Given the description of an element on the screen output the (x, y) to click on. 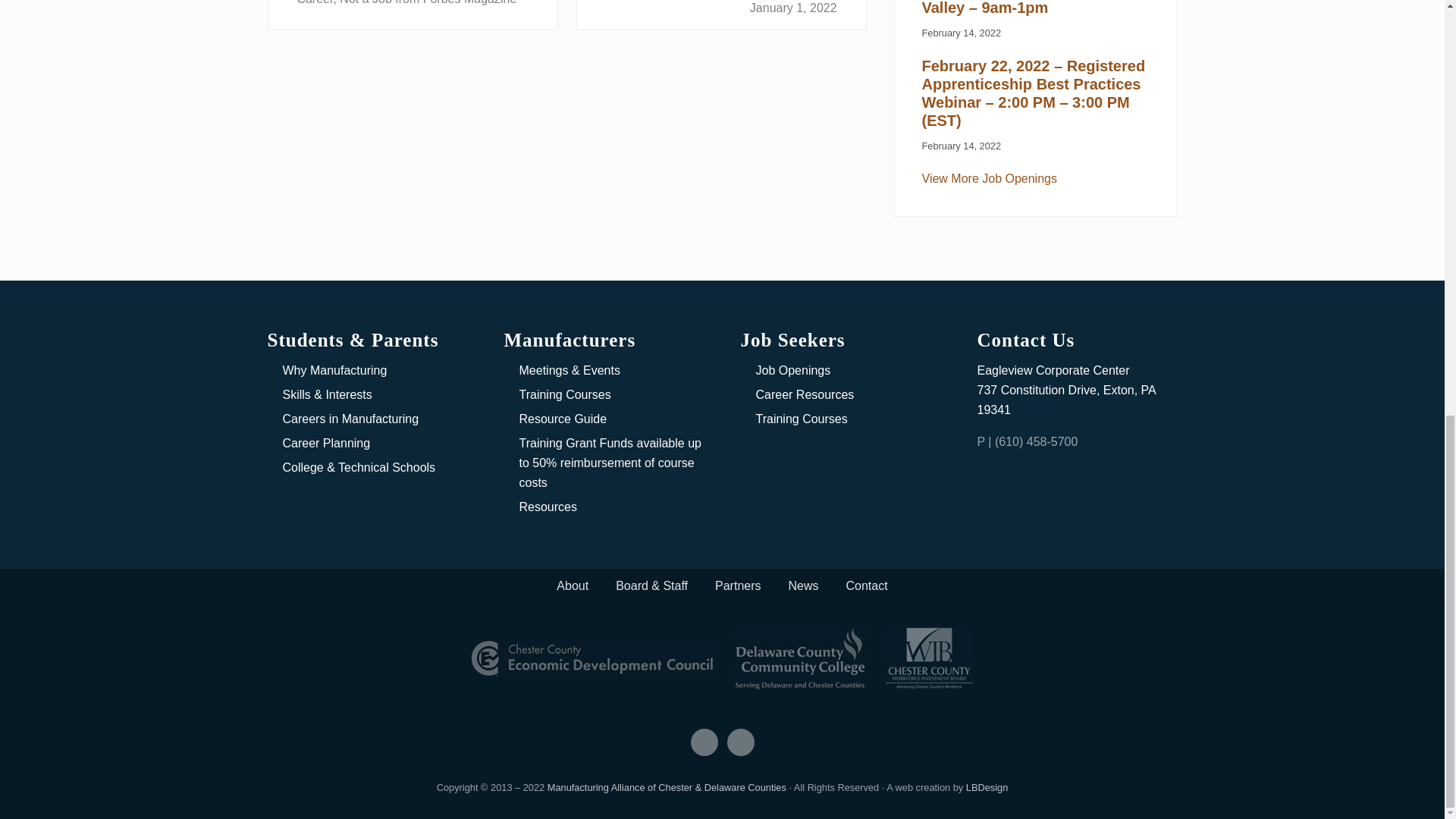
Job Openings (989, 178)
